Given the description of an element on the screen output the (x, y) to click on. 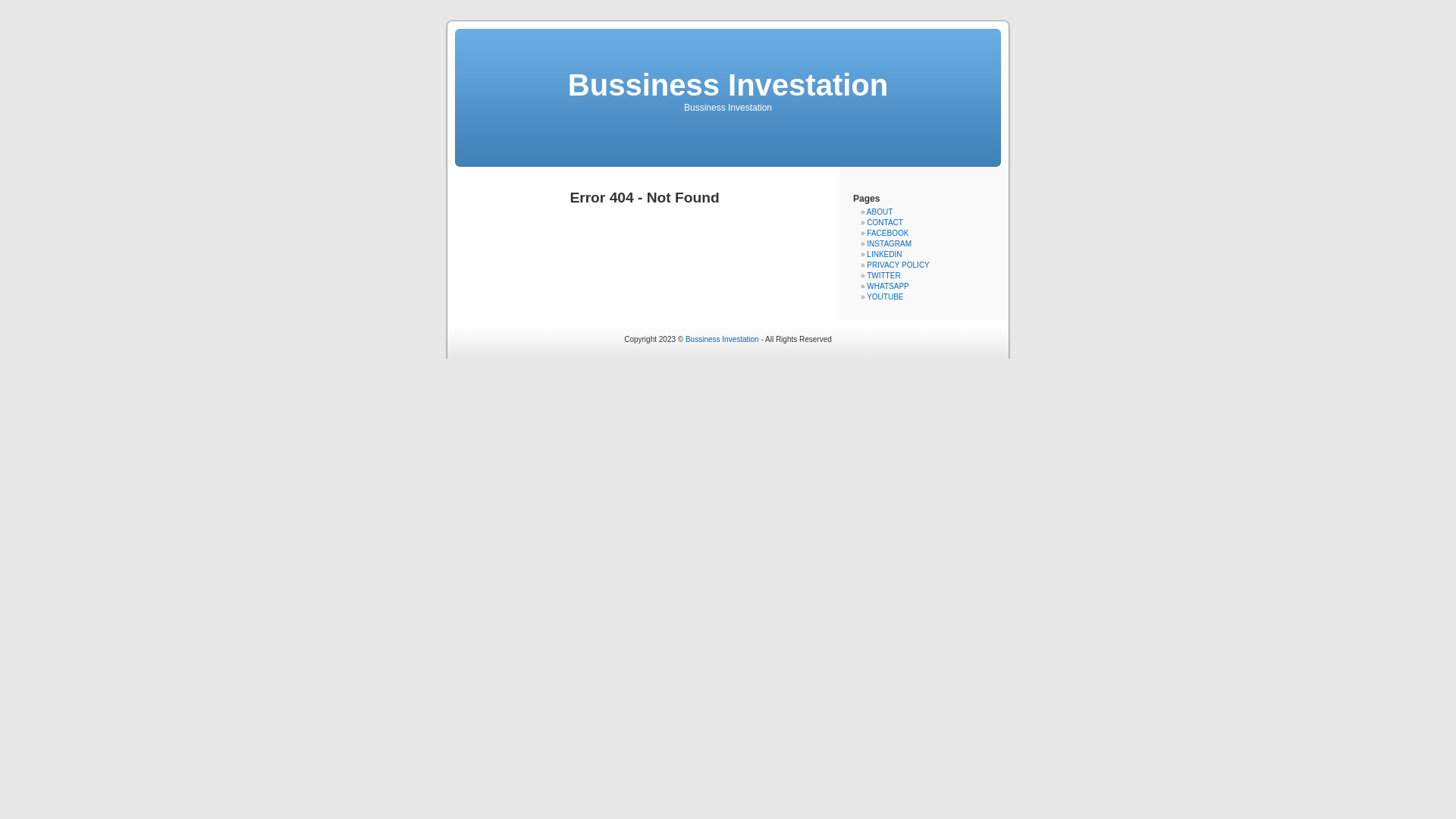
FACEBOOK Element type: text (887, 233)
WHATSAPP Element type: text (887, 286)
CONTACT Element type: text (884, 222)
ABOUT Element type: text (879, 211)
LINKEDIN Element type: text (883, 254)
INSTAGRAM Element type: text (888, 243)
TWITTER Element type: text (883, 275)
Bussiness Investation Element type: text (727, 84)
PRIVACY POLICY Element type: text (897, 264)
Bussiness Investation Element type: text (722, 339)
YOUTUBE Element type: text (884, 296)
